Given the description of an element on the screen output the (x, y) to click on. 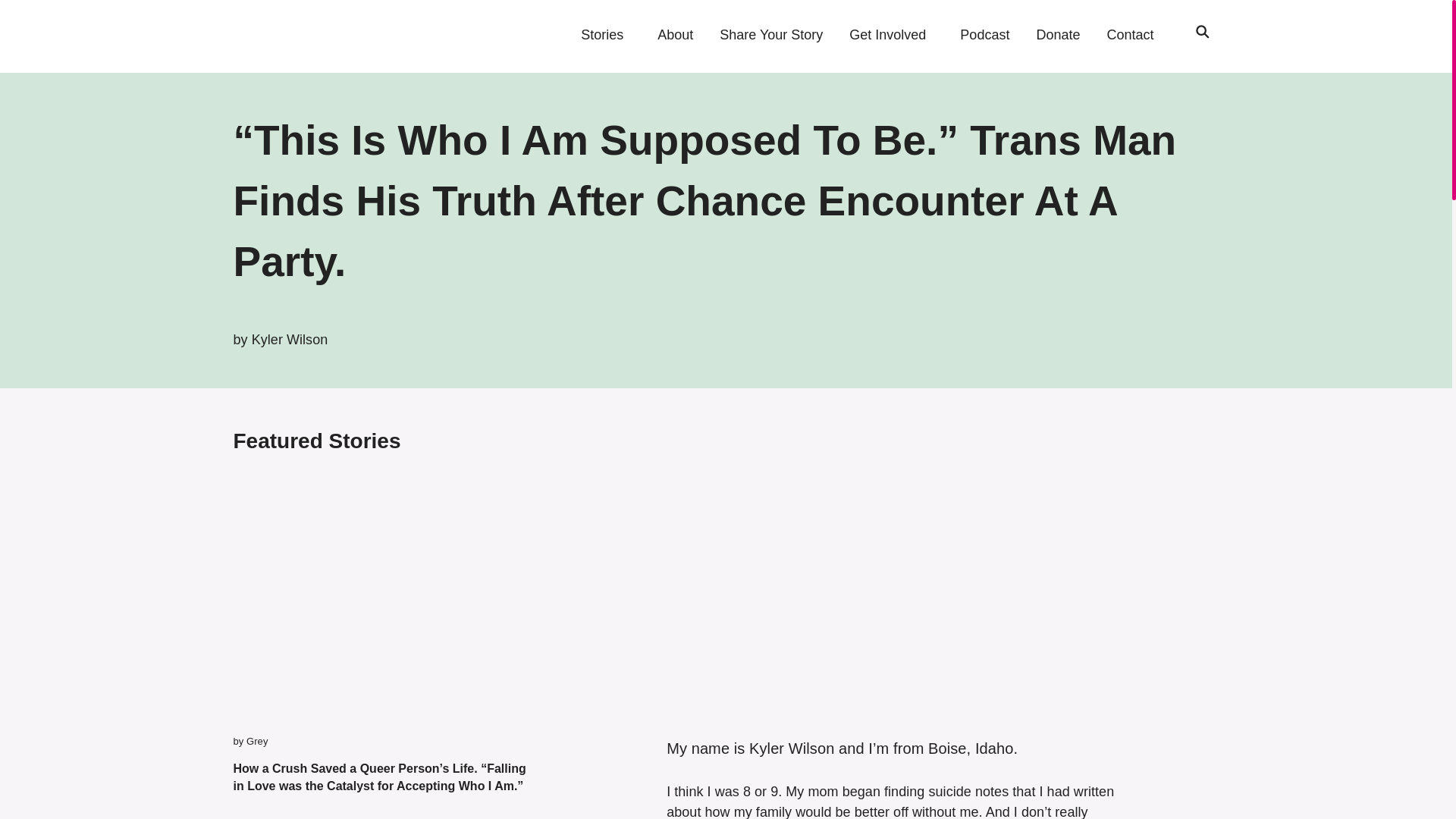
Stories (601, 34)
Podcast (984, 34)
About (675, 34)
Donate (1057, 34)
Share Your Story (770, 34)
Contact (1129, 34)
Get Involved (887, 34)
